Given the description of an element on the screen output the (x, y) to click on. 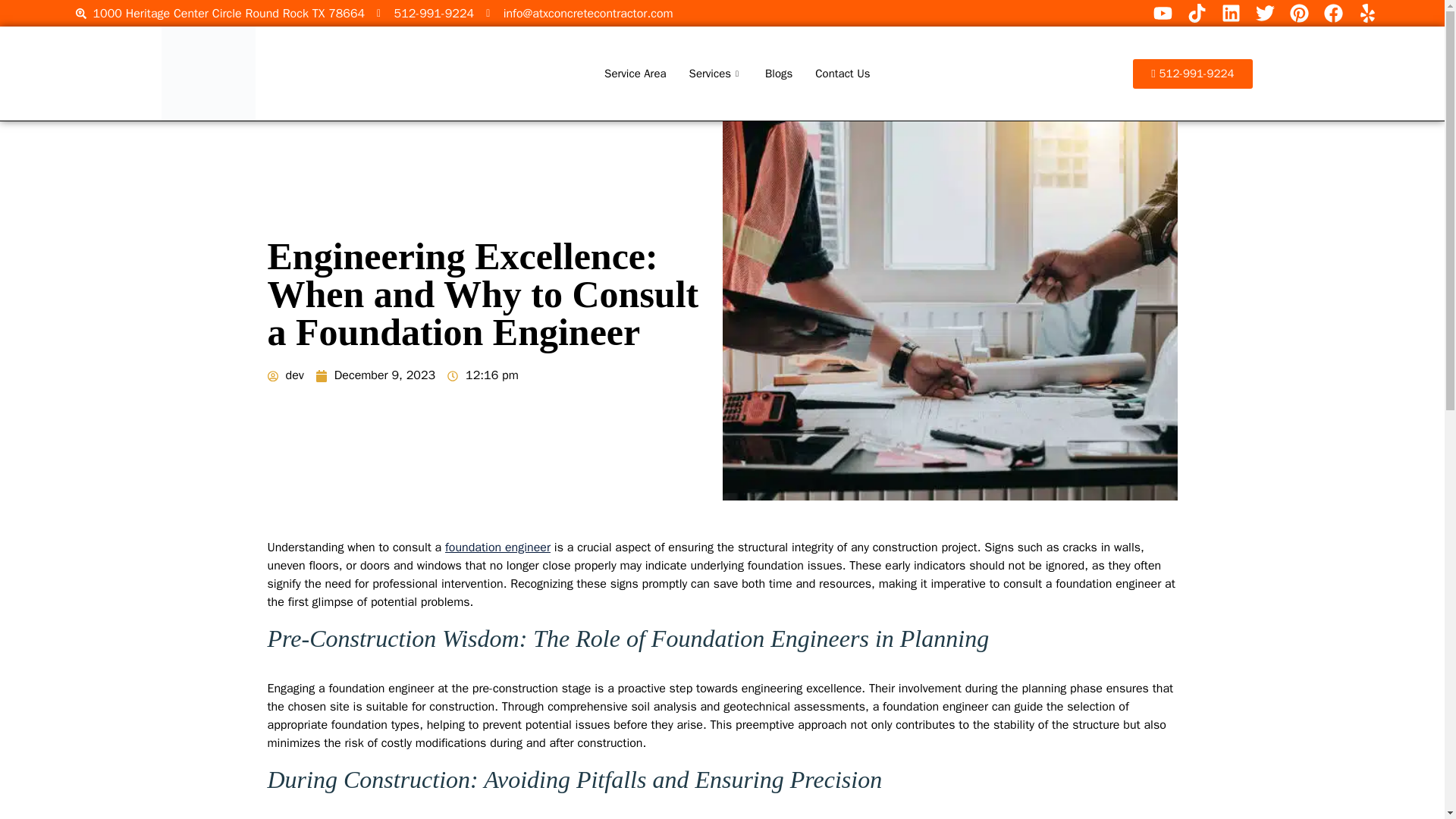
Services (716, 73)
Contact Us (841, 73)
512-991-9224 (425, 13)
Service Area (634, 73)
1000 Heritage Center Circle Round Rock TX 78664 (220, 13)
